Given the description of an element on the screen output the (x, y) to click on. 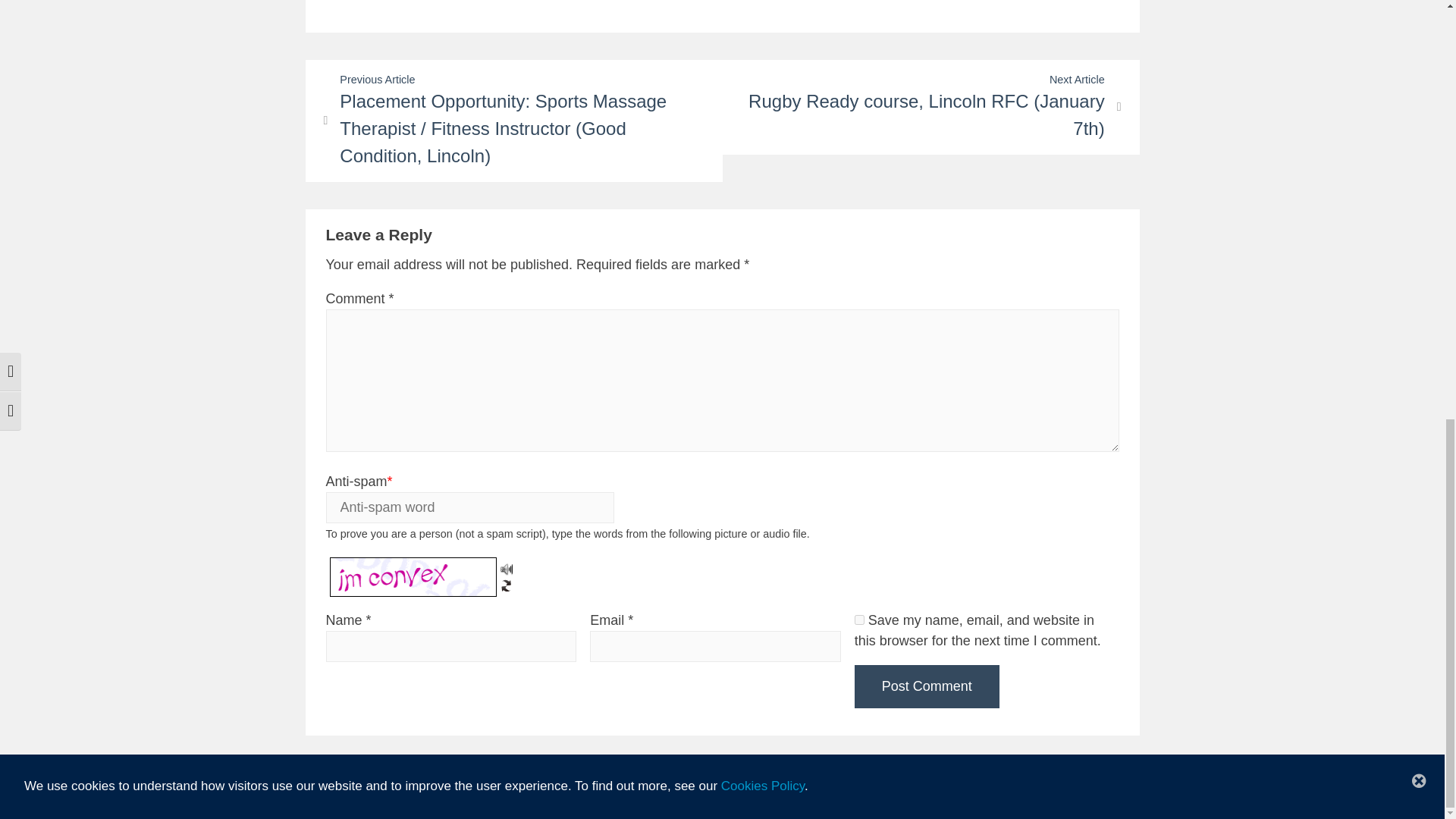
Post Comment (926, 686)
Bhari (834, 797)
yes (859, 619)
Load new (506, 582)
Post Comment (926, 686)
Proudly powered by WordPress (682, 797)
Listen to the Anti-spam word (506, 567)
